Given the description of an element on the screen output the (x, y) to click on. 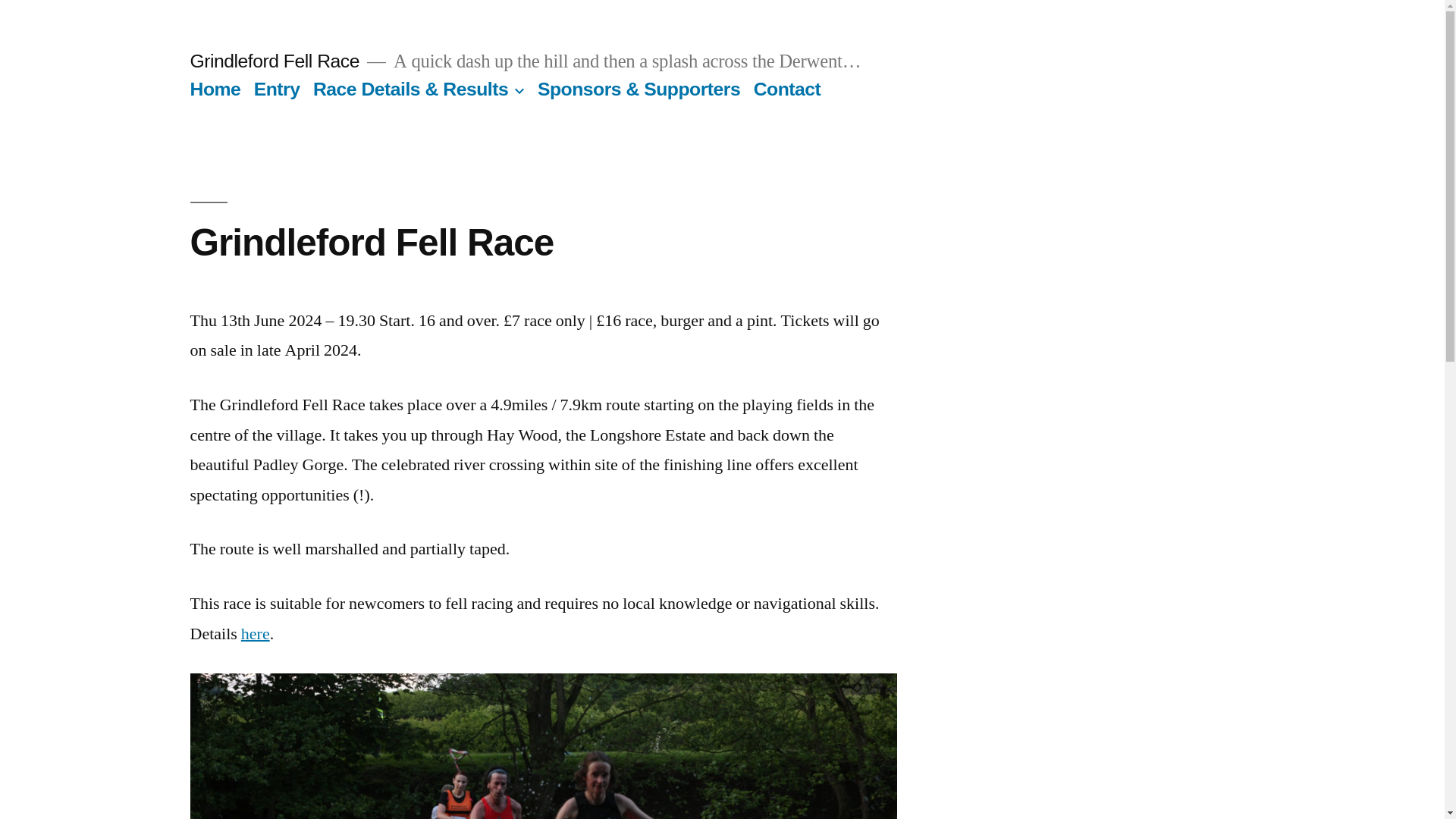
here (255, 633)
Contact (787, 88)
Home (214, 88)
Entry (276, 88)
Grindleford Fell Race (273, 60)
